Given the description of an element on the screen output the (x, y) to click on. 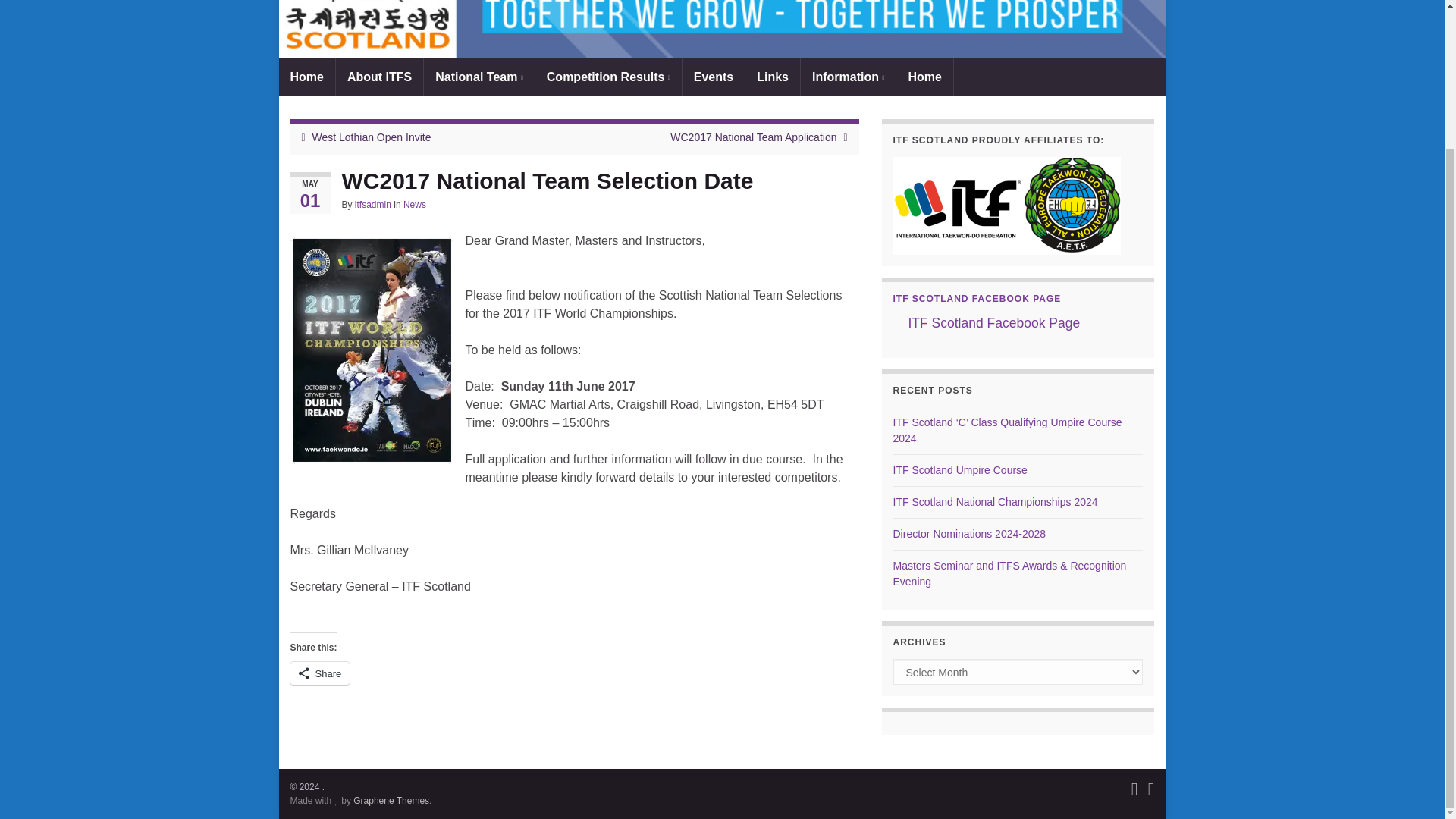
ITF SCOTLAND FACEBOOK PAGE (977, 298)
About ITFS (379, 77)
itfsadmin (373, 204)
Share (319, 672)
Competition Results (608, 77)
West Lothian Open Invite (371, 137)
News (414, 204)
Home (306, 77)
ITF Scotland Umpire Course (960, 469)
Events (713, 77)
Information (847, 77)
ITF Scotland Facebook Page (994, 322)
WC2017 National Team Application (752, 137)
Links (772, 77)
Home (924, 77)
